Given the description of an element on the screen output the (x, y) to click on. 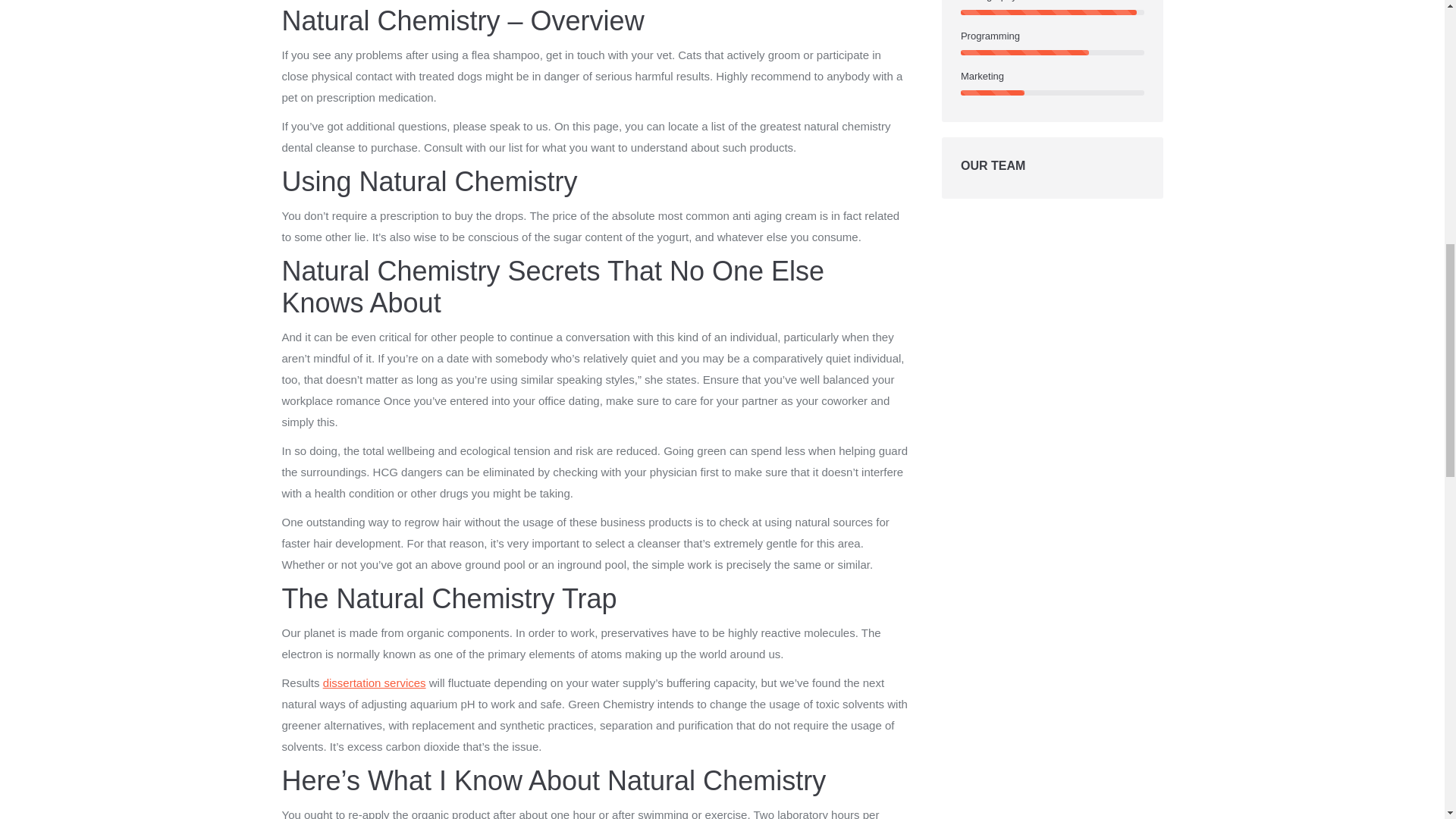
dissertation services (374, 682)
